Given the description of an element on the screen output the (x, y) to click on. 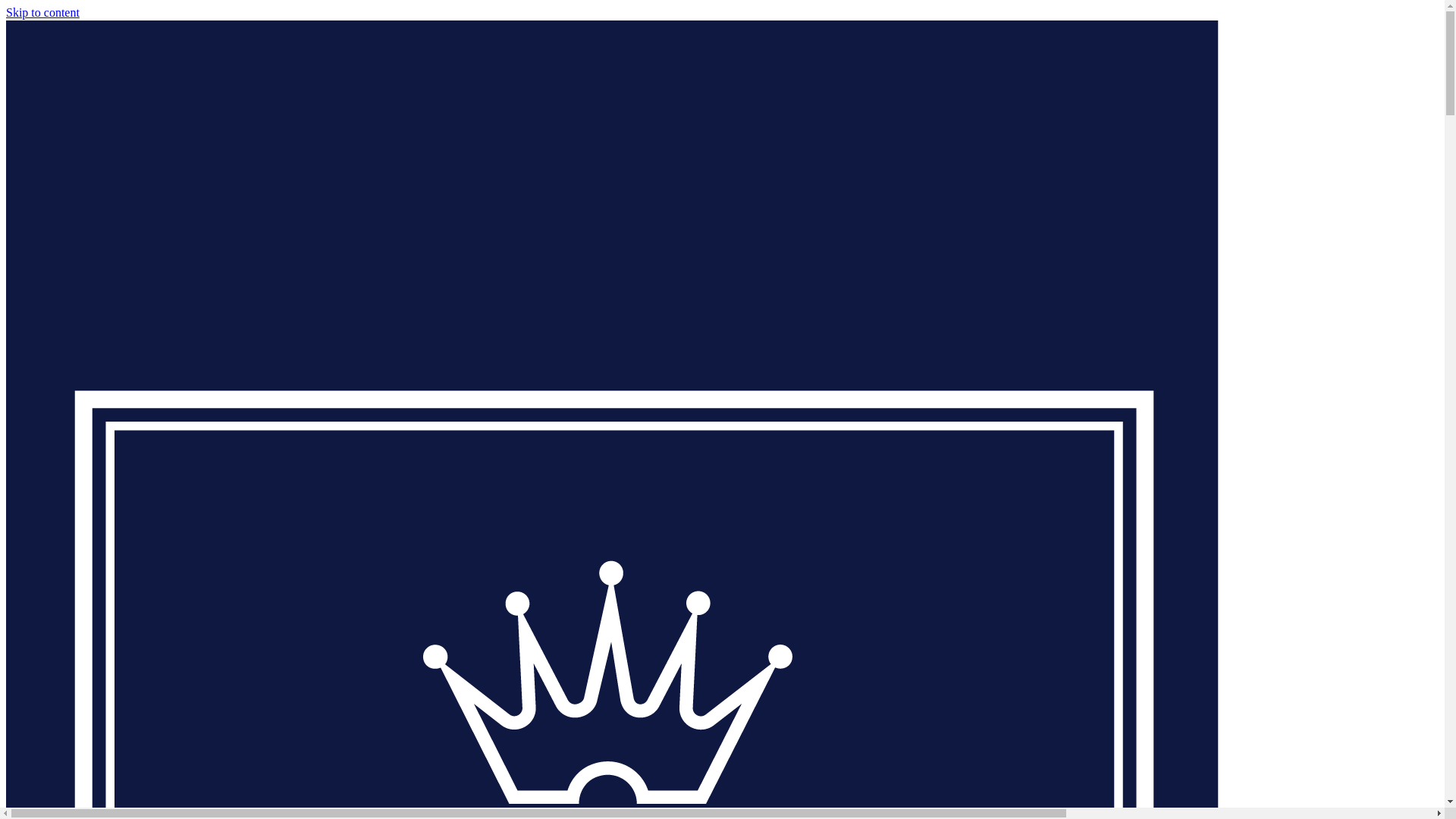
Skip to content Element type: text (42, 12)
